Given the description of an element on the screen output the (x, y) to click on. 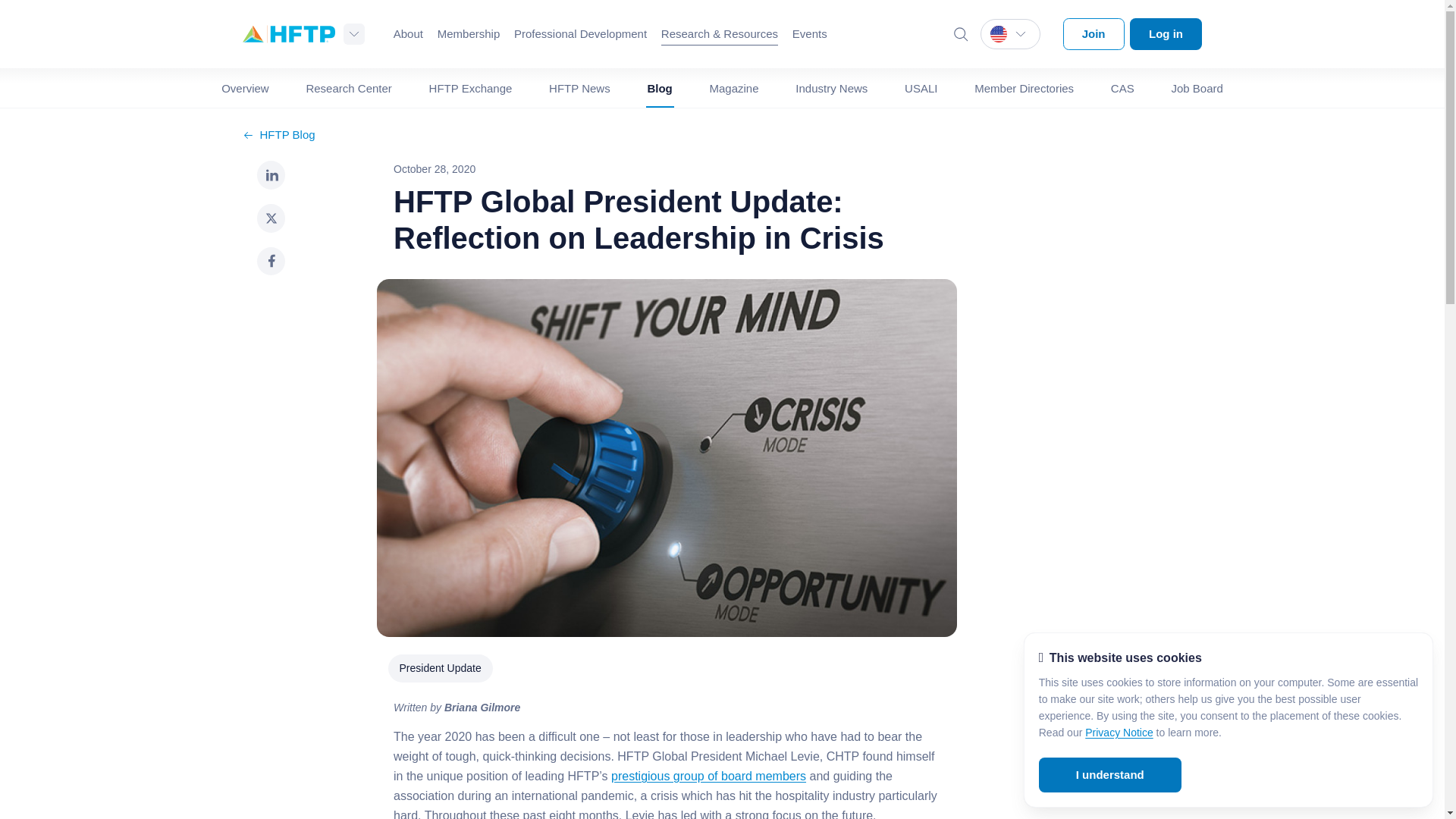
Membership (469, 34)
About (408, 34)
Professional Development (579, 34)
